Given the description of an element on the screen output the (x, y) to click on. 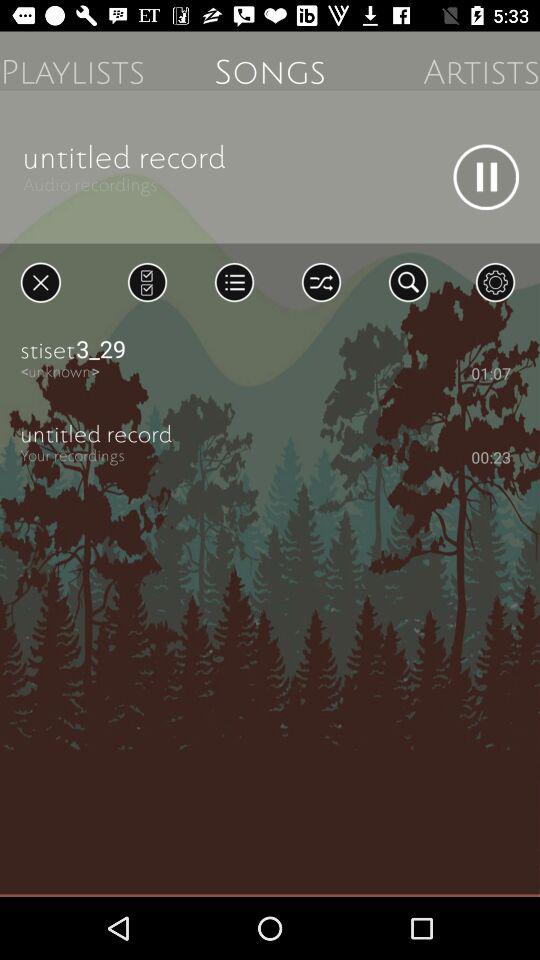
pause the music (486, 177)
